Given the description of an element on the screen output the (x, y) to click on. 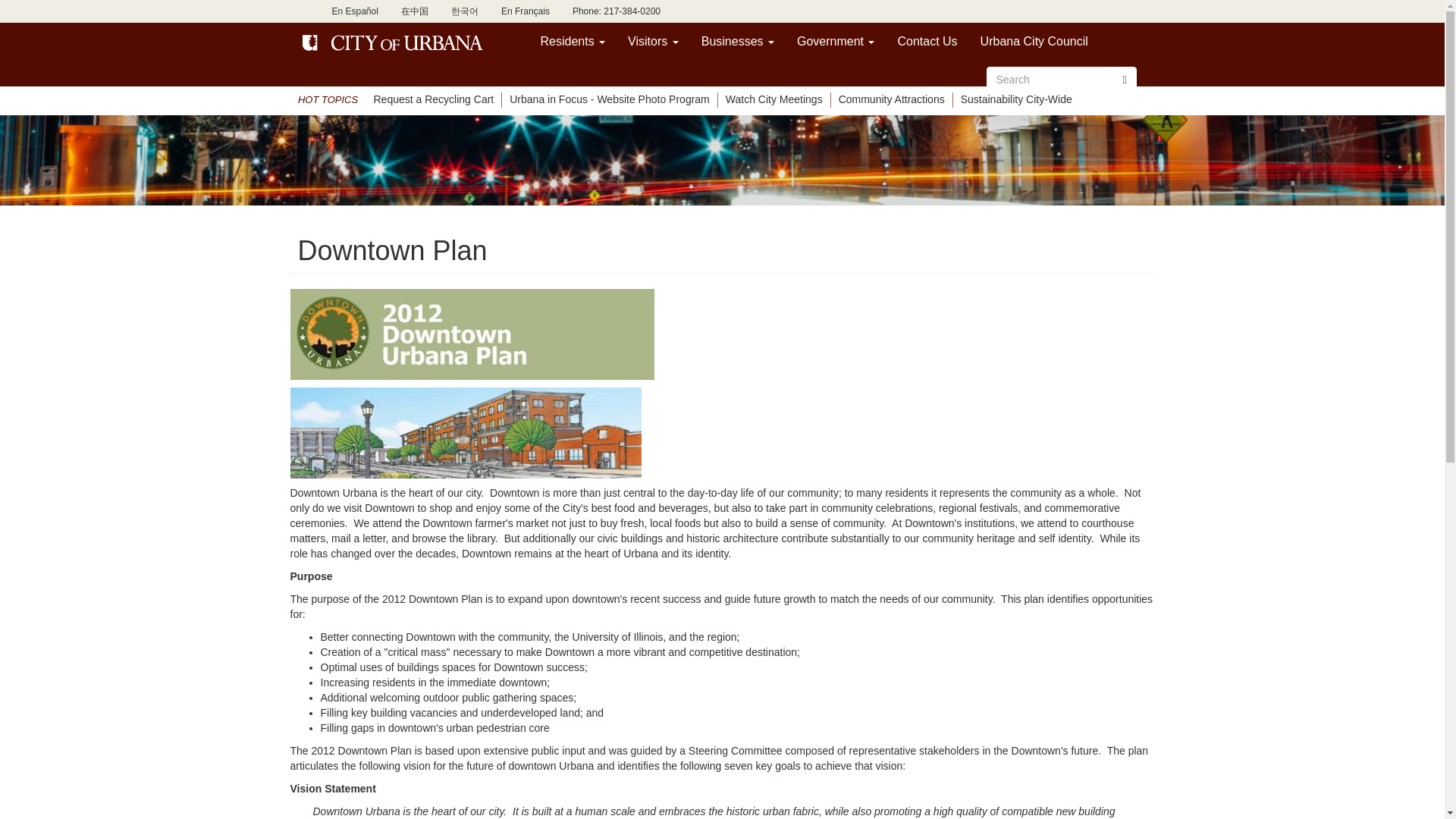
Phone: 217-384-0200 (615, 11)
Residents (573, 41)
Home (393, 41)
Visitors (652, 41)
Visit the main landing page for Residents. (573, 41)
